Given the description of an element on the screen output the (x, y) to click on. 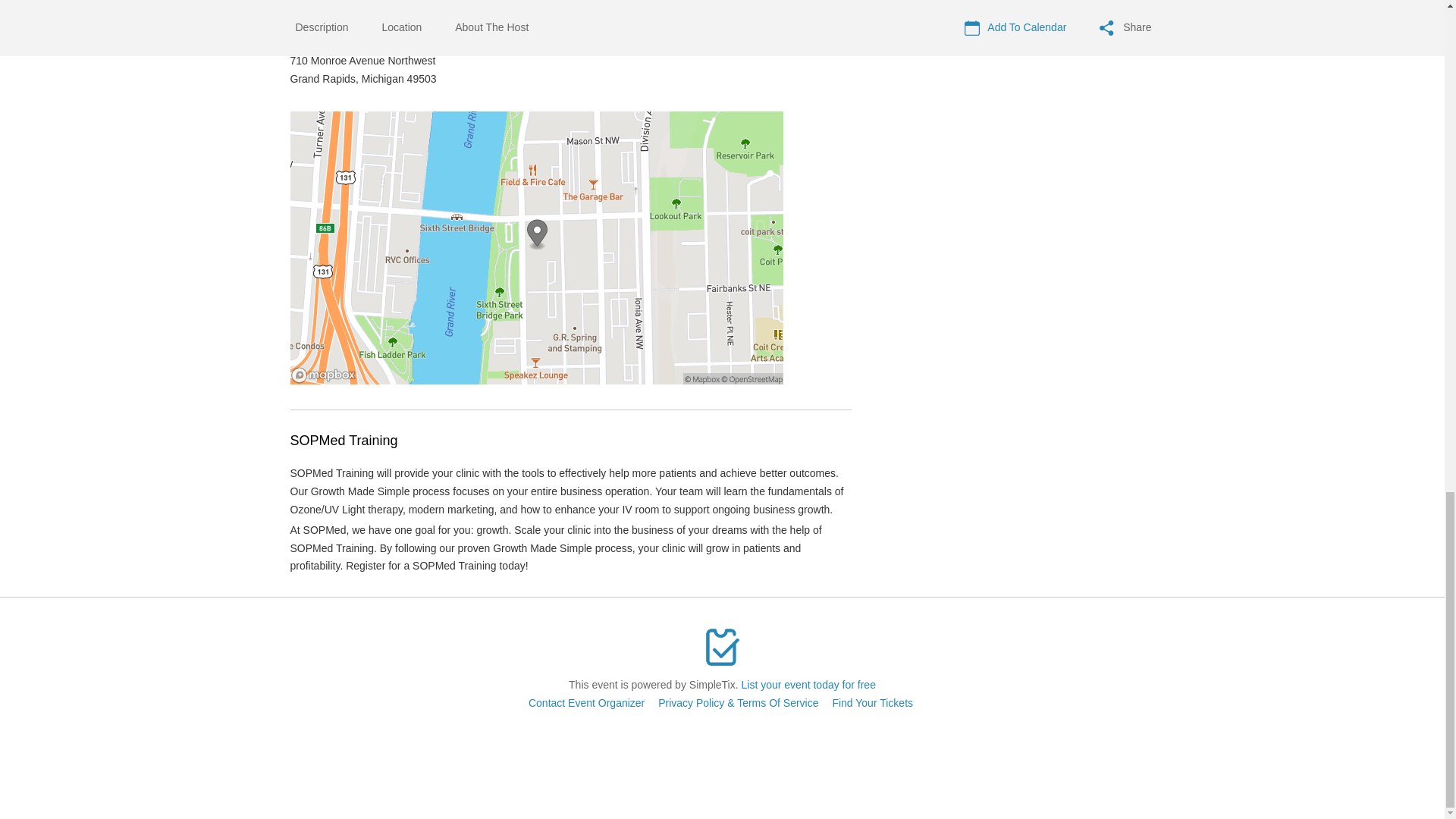
Find Your Tickets (871, 702)
Find Your Tickets (871, 702)
List your event today for free (808, 684)
Powered by SimpleTix (721, 646)
Contact Event Organizer (586, 702)
Contact Event Organizer (586, 702)
List your event today for free (808, 684)
